Given the description of an element on the screen output the (x, y) to click on. 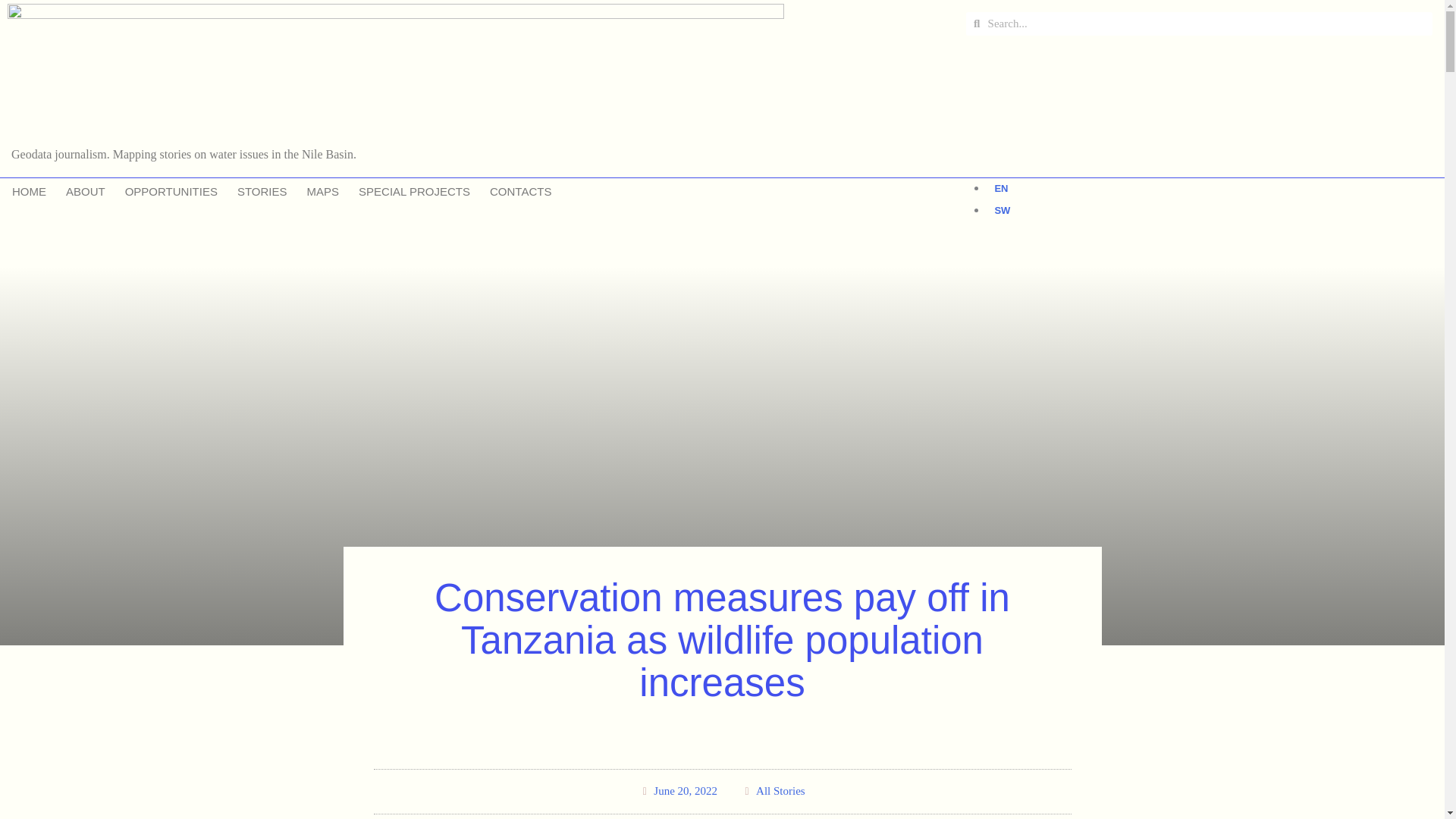
EN (997, 188)
STORIES (262, 191)
OPPORTUNITIES (171, 191)
MAPS (323, 191)
SPECIAL PROJECTS (414, 191)
CONTACTS (520, 191)
ABOUT (85, 191)
HOME (29, 191)
SW (998, 210)
